Given the description of an element on the screen output the (x, y) to click on. 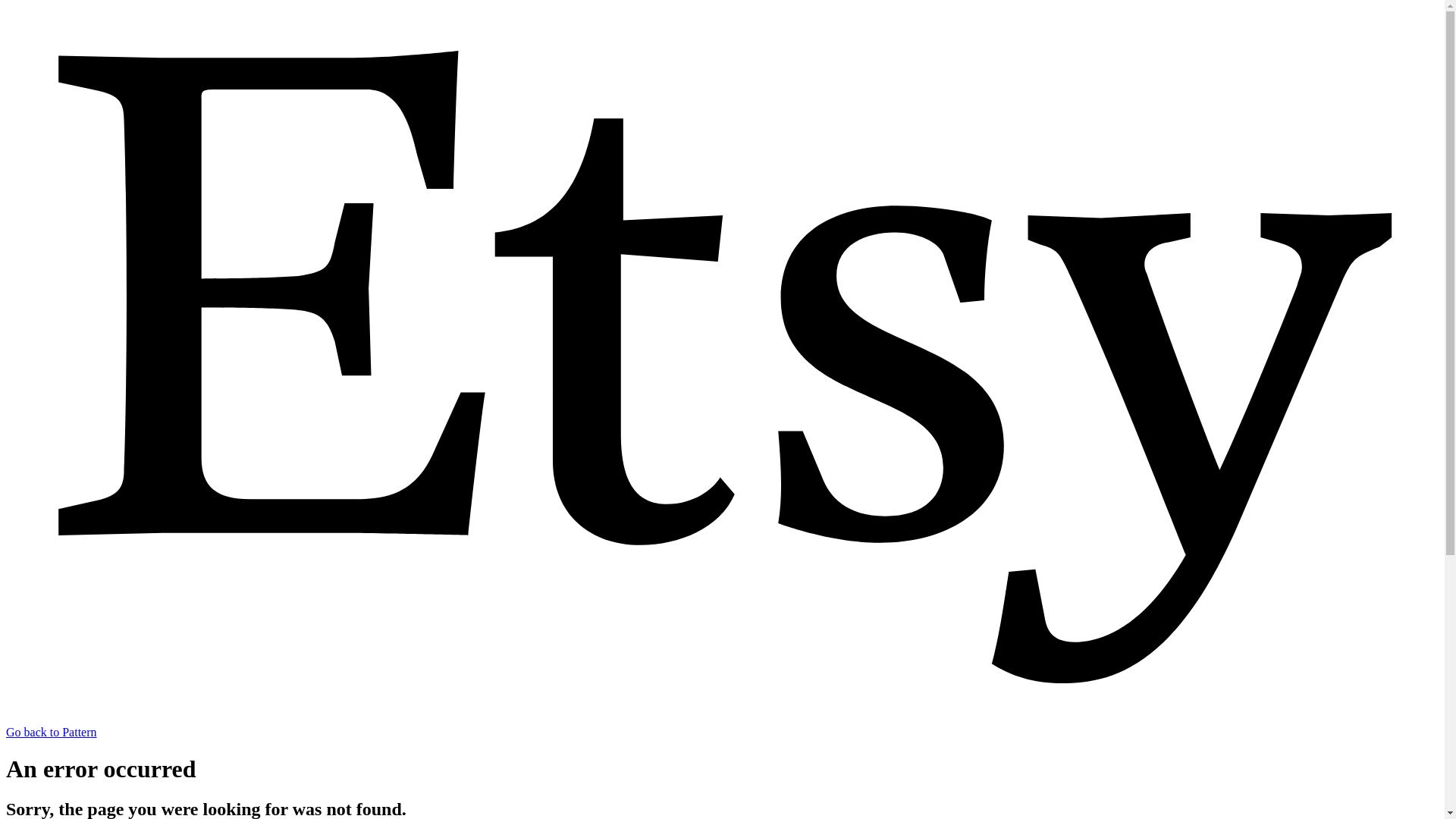
Go back to Pattern Element type: text (722, 724)
